Given the description of an element on the screen output the (x, y) to click on. 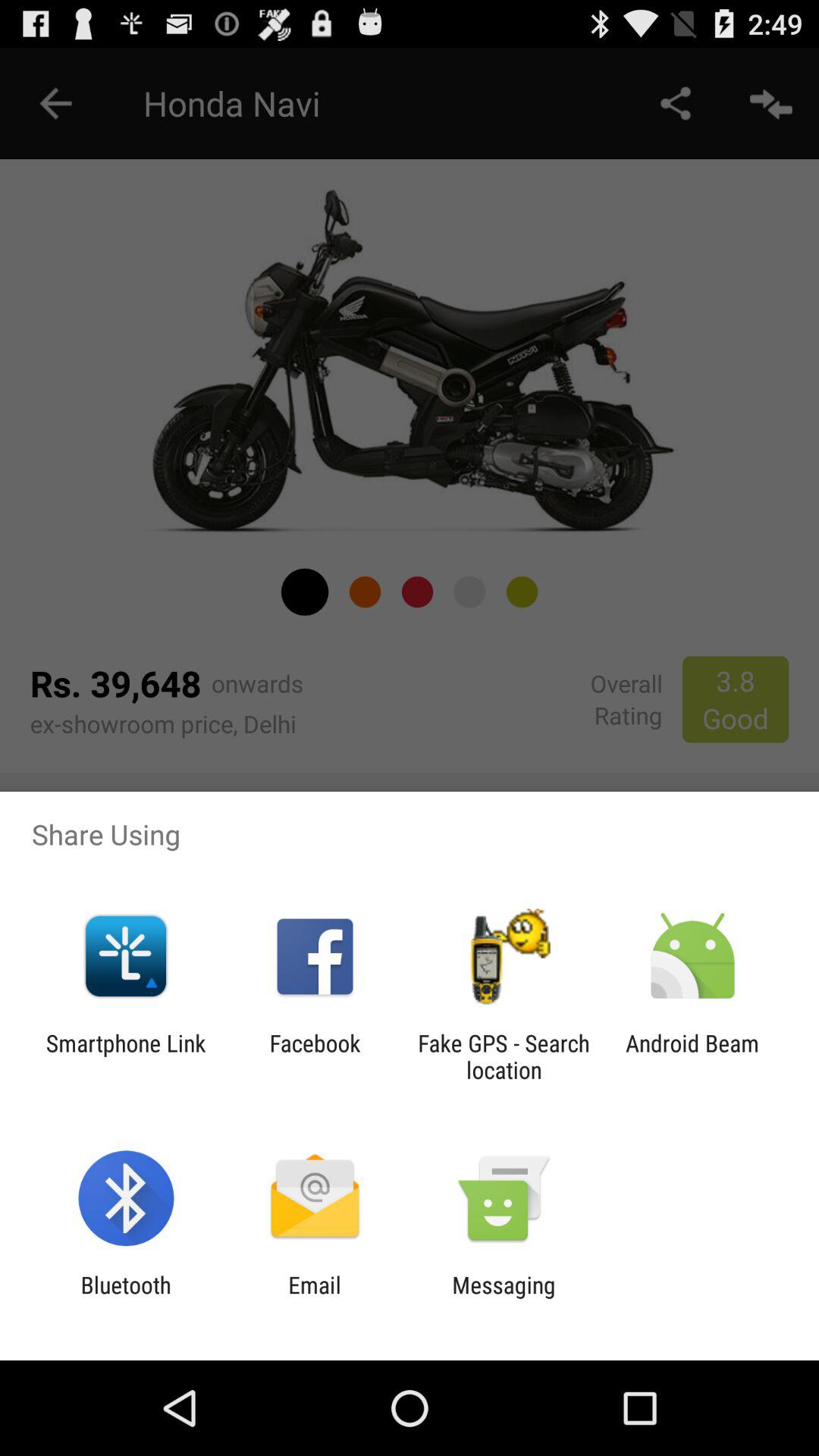
tap the item to the left of messaging (314, 1298)
